Given the description of an element on the screen output the (x, y) to click on. 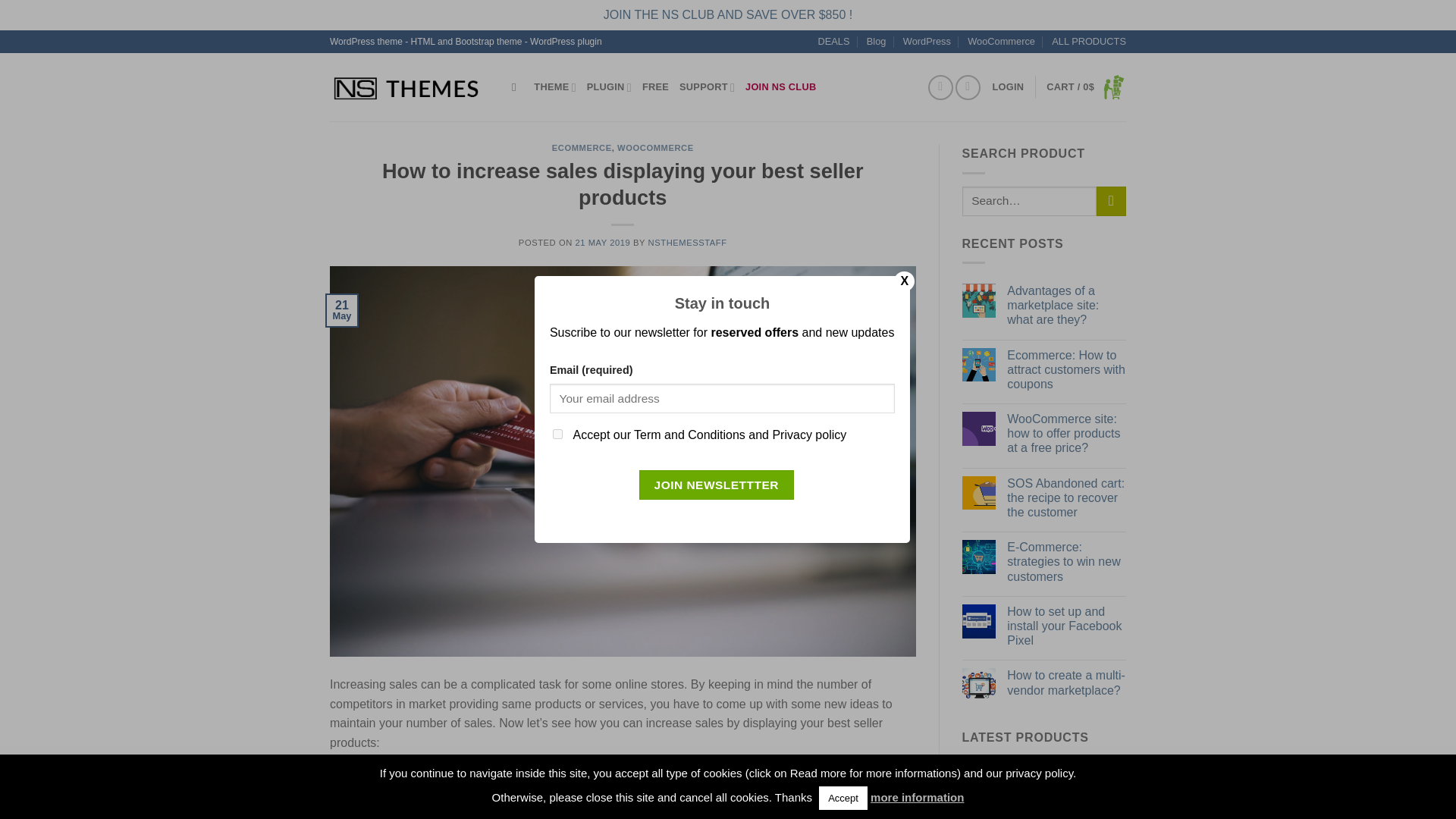
How to create a multi-vendor marketplace? (1066, 682)
NSTHEMESSTAFF (686, 242)
Ecommerce: How to attract customers with coupons (1066, 370)
JOIN NS CLUB (780, 87)
LOGIN (1007, 87)
SUPPORT (707, 87)
on (557, 433)
How to set up and install your Facebook Pixel (1066, 626)
E-Commerce: strategies to win new customers (1066, 561)
WordPress (926, 41)
21 MAY 2019 (602, 242)
THEME (554, 87)
ECOMMERCE (581, 147)
WOOCOMMERCE (655, 147)
Cart (1085, 87)
